Given the description of an element on the screen output the (x, y) to click on. 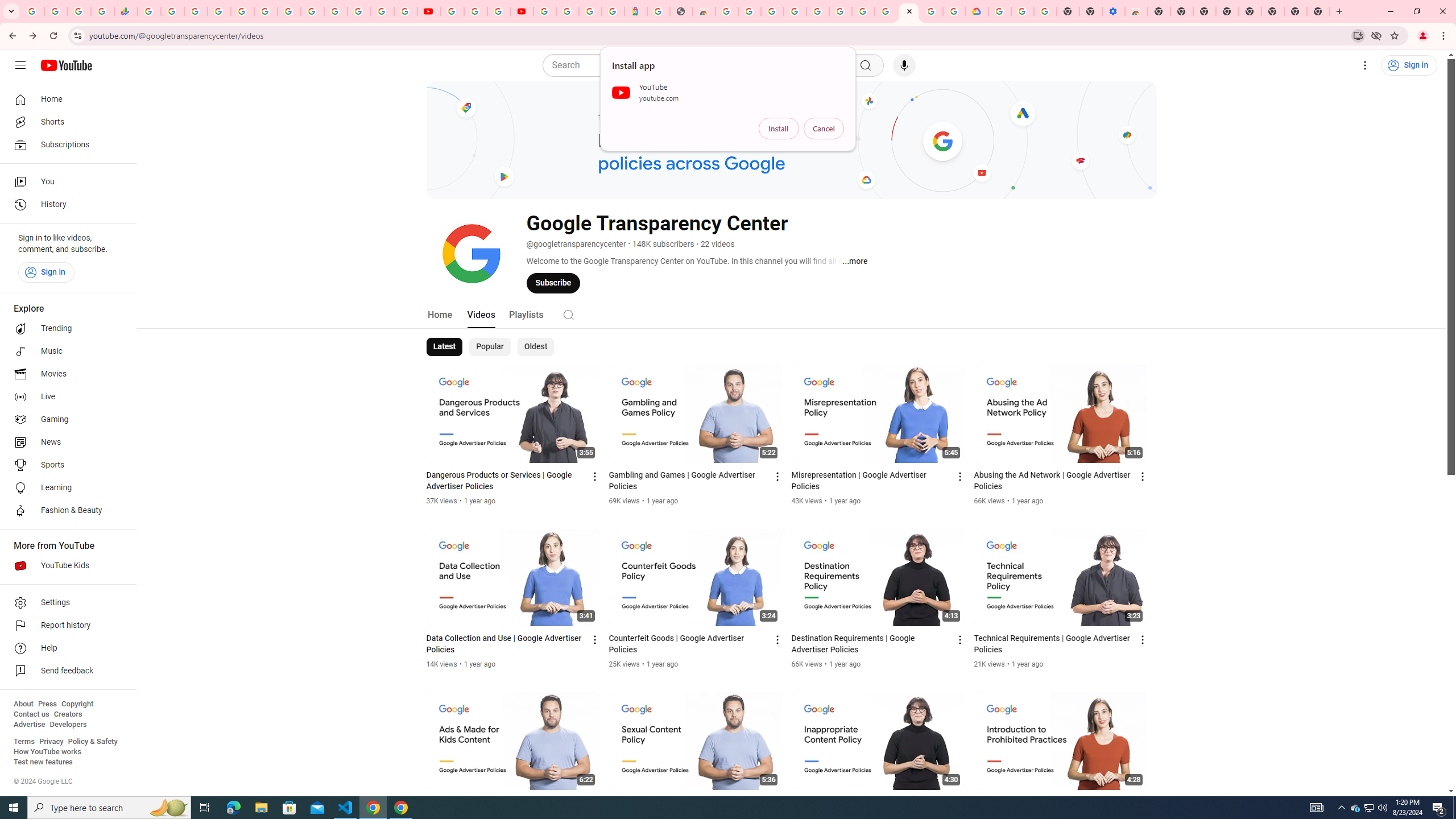
Home (64, 99)
Shorts (64, 121)
Privacy Checkup (405, 11)
Cancel (823, 128)
Terms (23, 741)
Learning (64, 487)
YouTube (312, 11)
Sign in - Google Accounts (218, 11)
Search (697, 65)
Home (440, 314)
Oldest (534, 346)
Report history (64, 625)
Sign in - Google Accounts (999, 11)
